Given the description of an element on the screen output the (x, y) to click on. 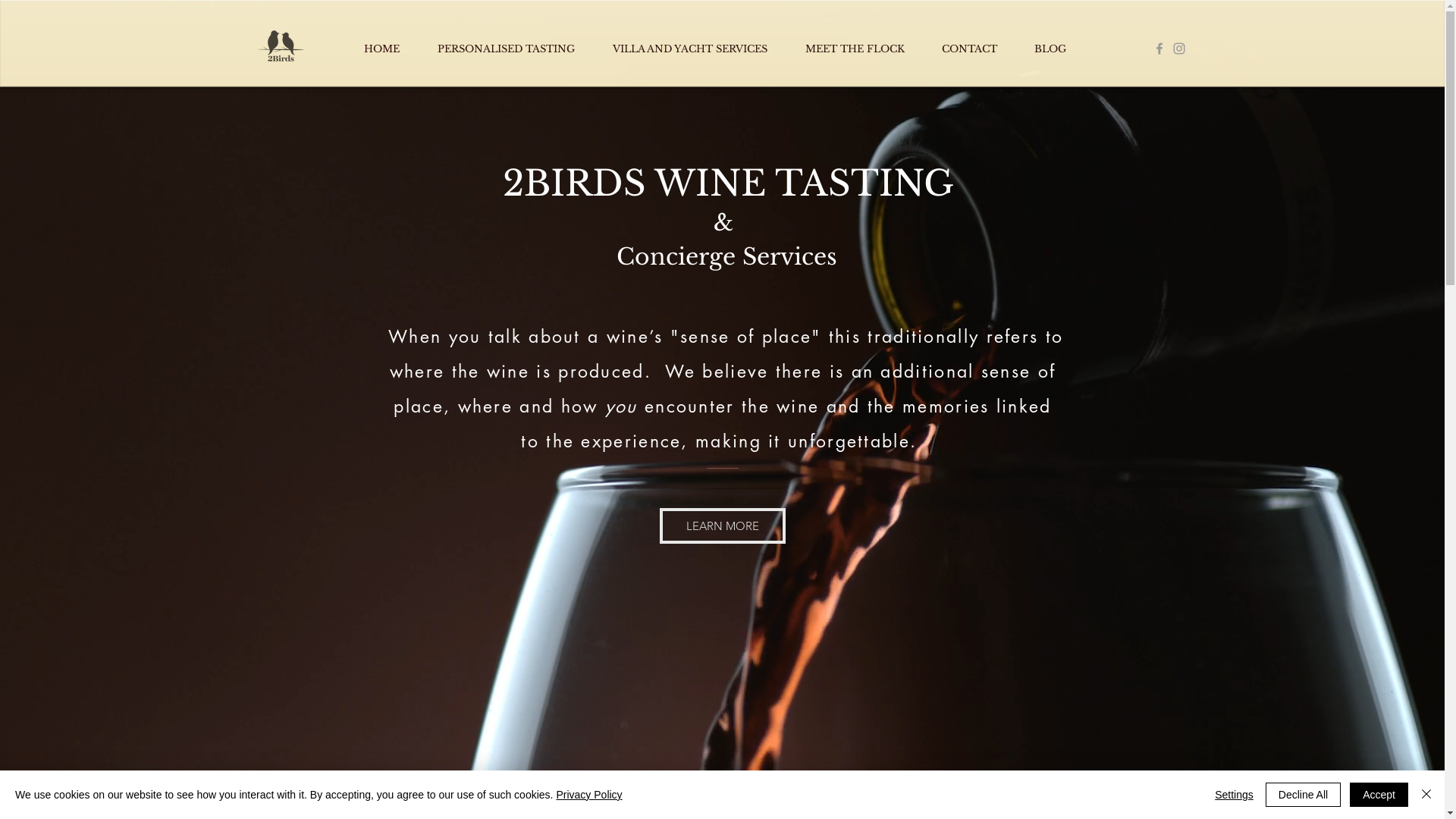
PERSONALISED TASTING Element type: text (513, 48)
CONTACT Element type: text (975, 48)
MEET THE FLOCK Element type: text (861, 48)
Privacy Policy Element type: text (588, 794)
VILLA AND YACHT SERVICES Element type: text (696, 48)
Decline All Element type: text (1302, 794)
LEARN MORE Element type: text (722, 525)
HOME Element type: text (388, 48)
Accept Element type: text (1378, 794)
BLOG Element type: text (1056, 48)
